Given the description of an element on the screen output the (x, y) to click on. 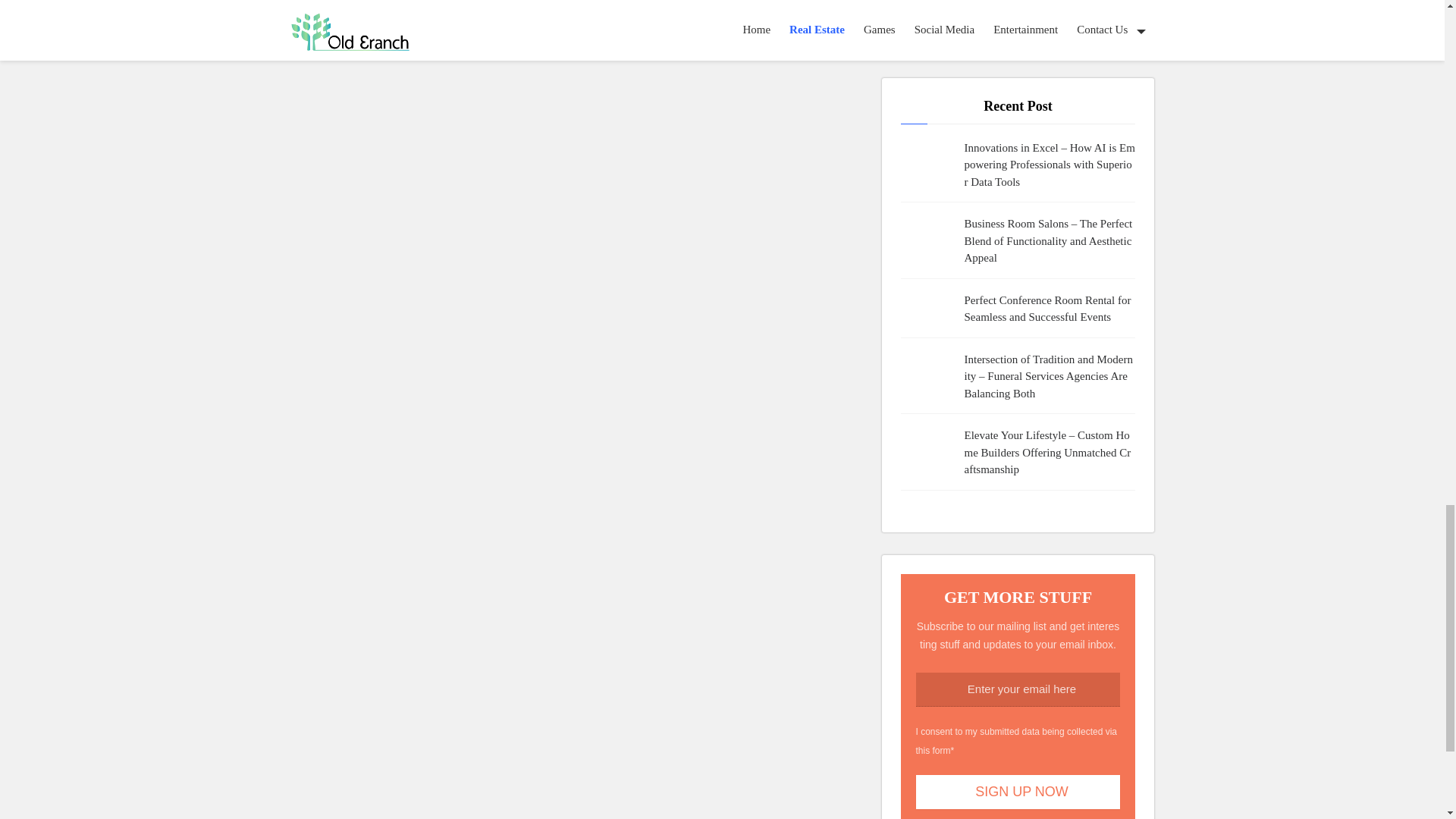
Sign Up Now (1018, 791)
